Given the description of an element on the screen output the (x, y) to click on. 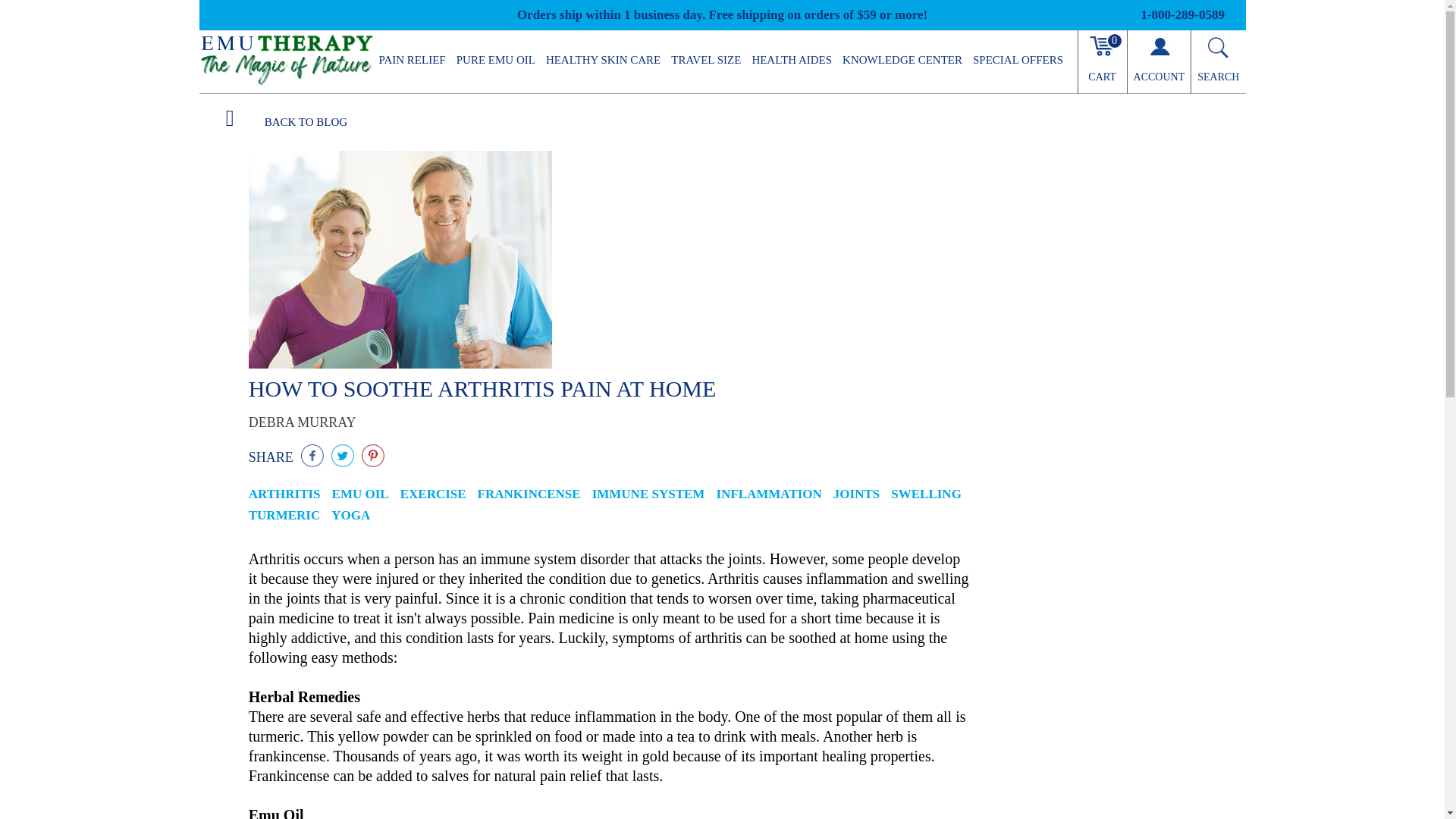
PURE EMU OIL (495, 59)
HEALTH AIDES (791, 59)
SPECIAL OFFERS (1018, 59)
KNOWLEDGE CENTER (902, 59)
1-800-289-0589 (1182, 14)
PAIN RELIEF (410, 59)
ACCOUNT (1158, 61)
TRAVEL SIZE (705, 59)
HEALTHY SKIN CARE (602, 59)
